Given the description of an element on the screen output the (x, y) to click on. 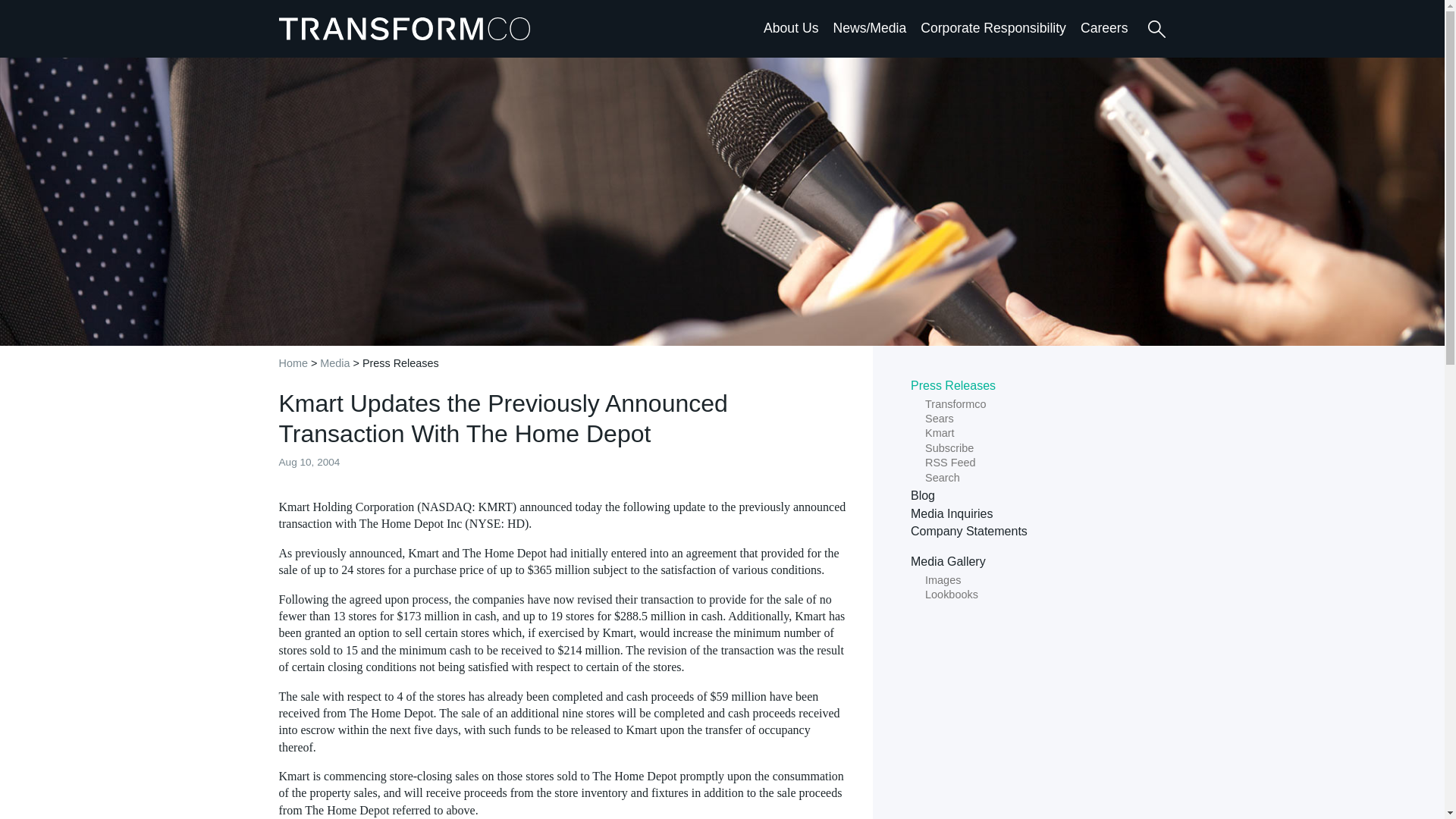
Transformco (408, 28)
Corporate Responsibility (993, 28)
Transformco (408, 28)
About Us (790, 28)
Search (1156, 28)
